Given the description of an element on the screen output the (x, y) to click on. 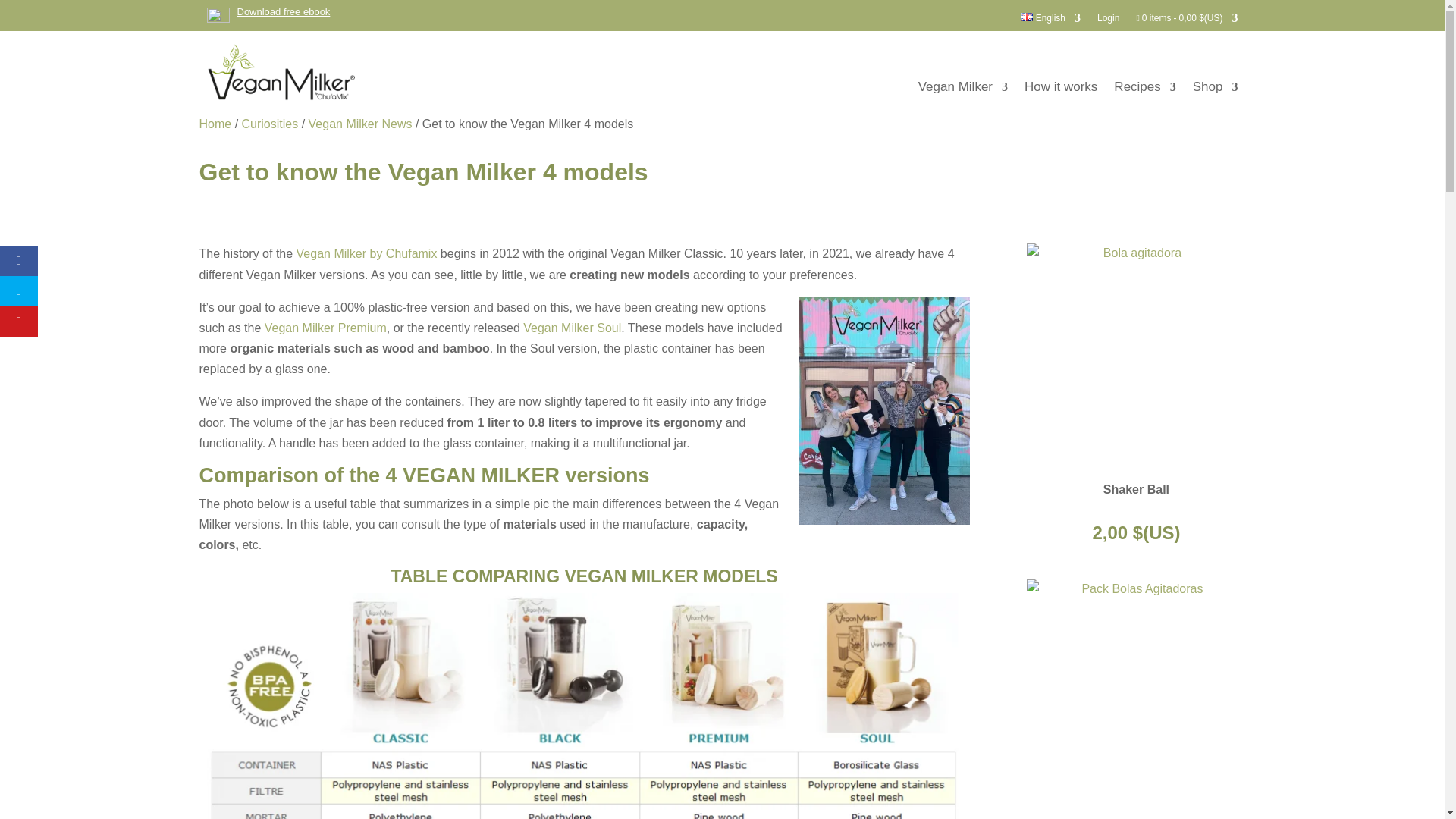
Vegan Milker Premium (325, 327)
Recipes (1143, 89)
Vegan Milker (962, 89)
Vegan Milker by Chufamix (367, 253)
logo-vegan-milker-250px (279, 72)
How it works (1061, 89)
Download free ebook (268, 11)
Shop (1215, 89)
Curiosities (269, 123)
English (1050, 25)
